Given the description of an element on the screen output the (x, y) to click on. 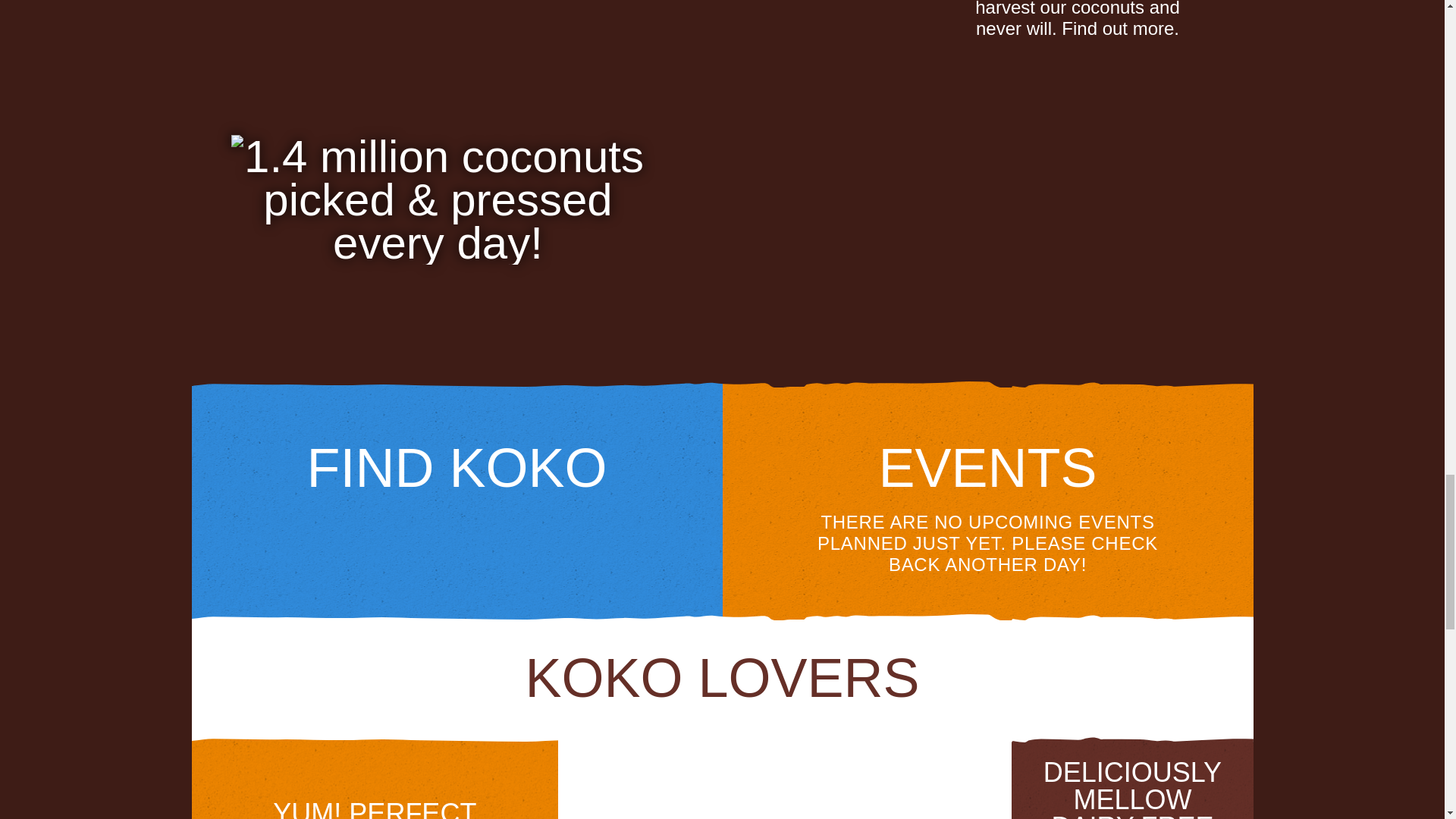
ABOUT US (437, 313)
